Given the description of an element on the screen output the (x, y) to click on. 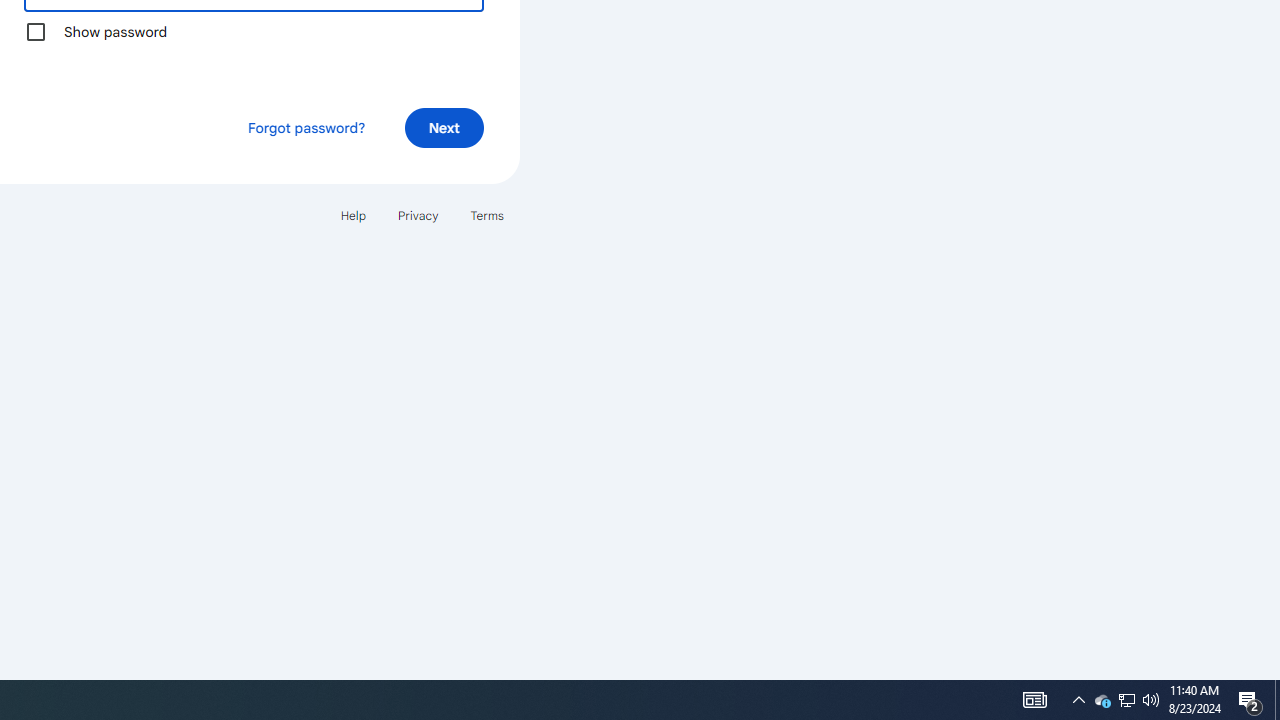
Show password (35, 31)
Forgot password? (305, 127)
Next (443, 127)
